Given the description of an element on the screen output the (x, y) to click on. 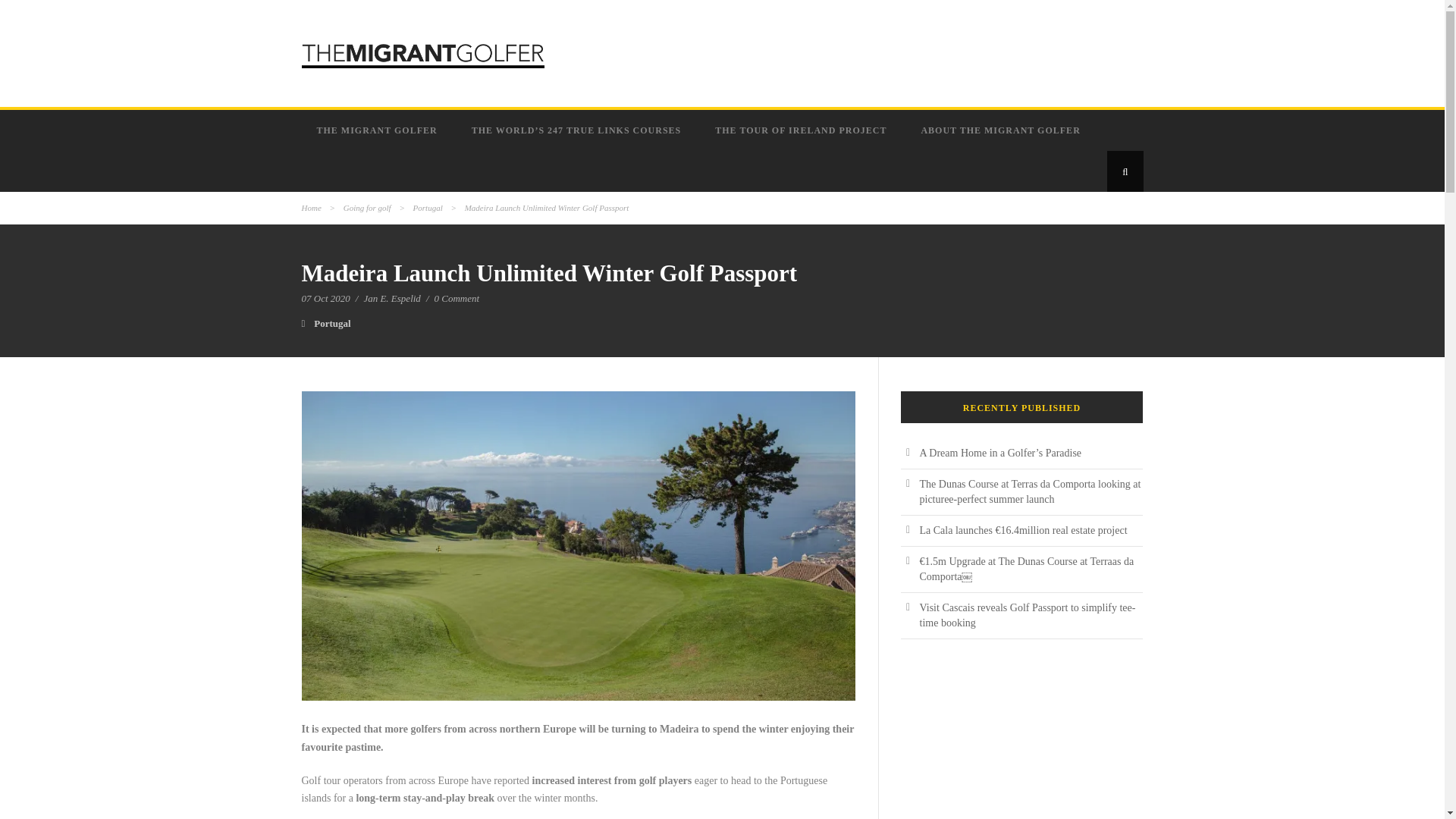
ABOUT THE MIGRANT GOLFER (1002, 129)
The Migrant Golfer (379, 129)
Going for golf (367, 207)
Portugal (427, 207)
Portugal (332, 323)
Home (311, 207)
Jan E. Espelid (391, 297)
07 Oct 2020 (325, 297)
THE MIGRANT GOLFER (379, 129)
THE TOUR OF IRELAND PROJECT (802, 129)
